Given the description of an element on the screen output the (x, y) to click on. 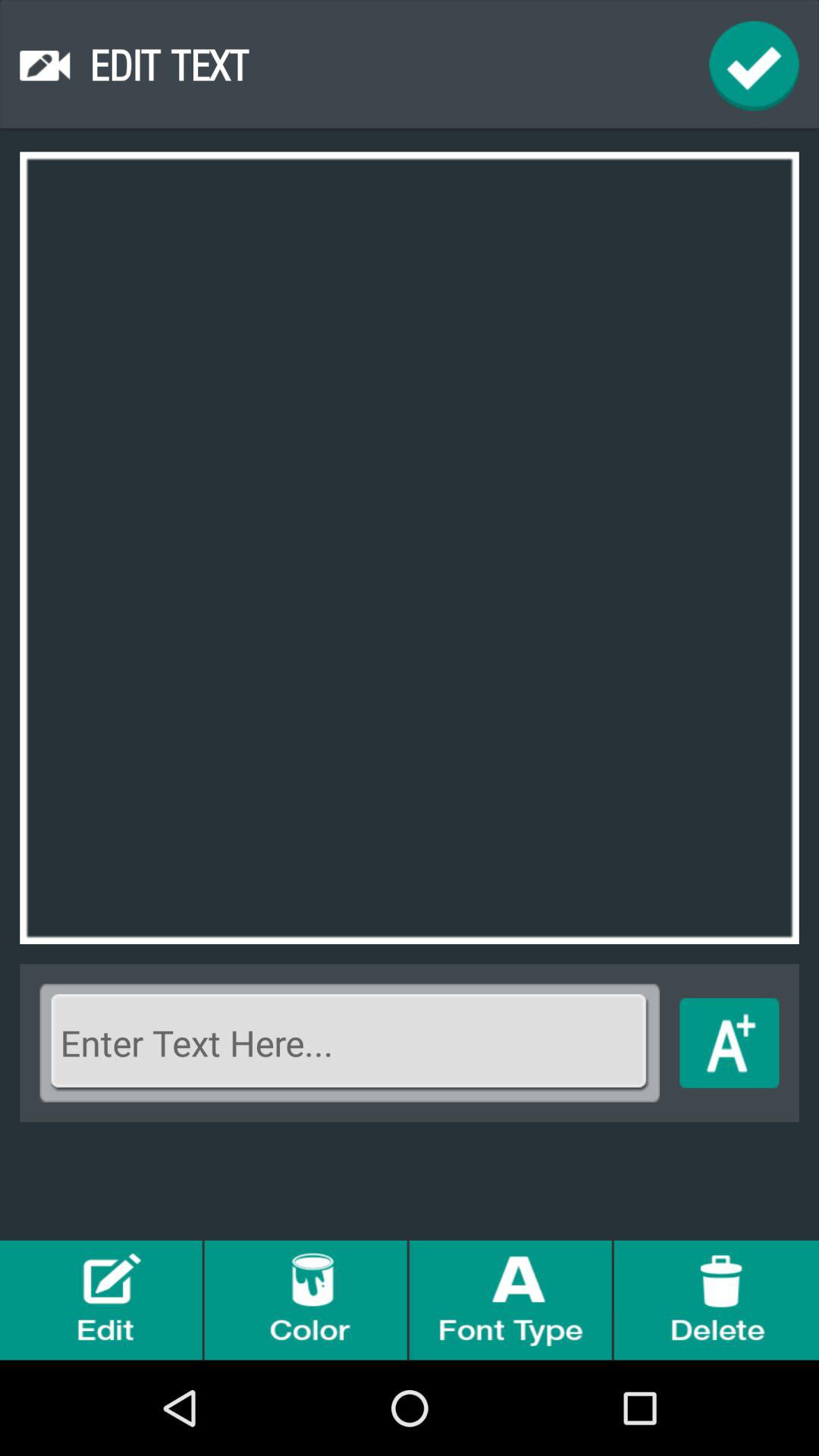
go to edit option (102, 1299)
